Given the description of an element on the screen output the (x, y) to click on. 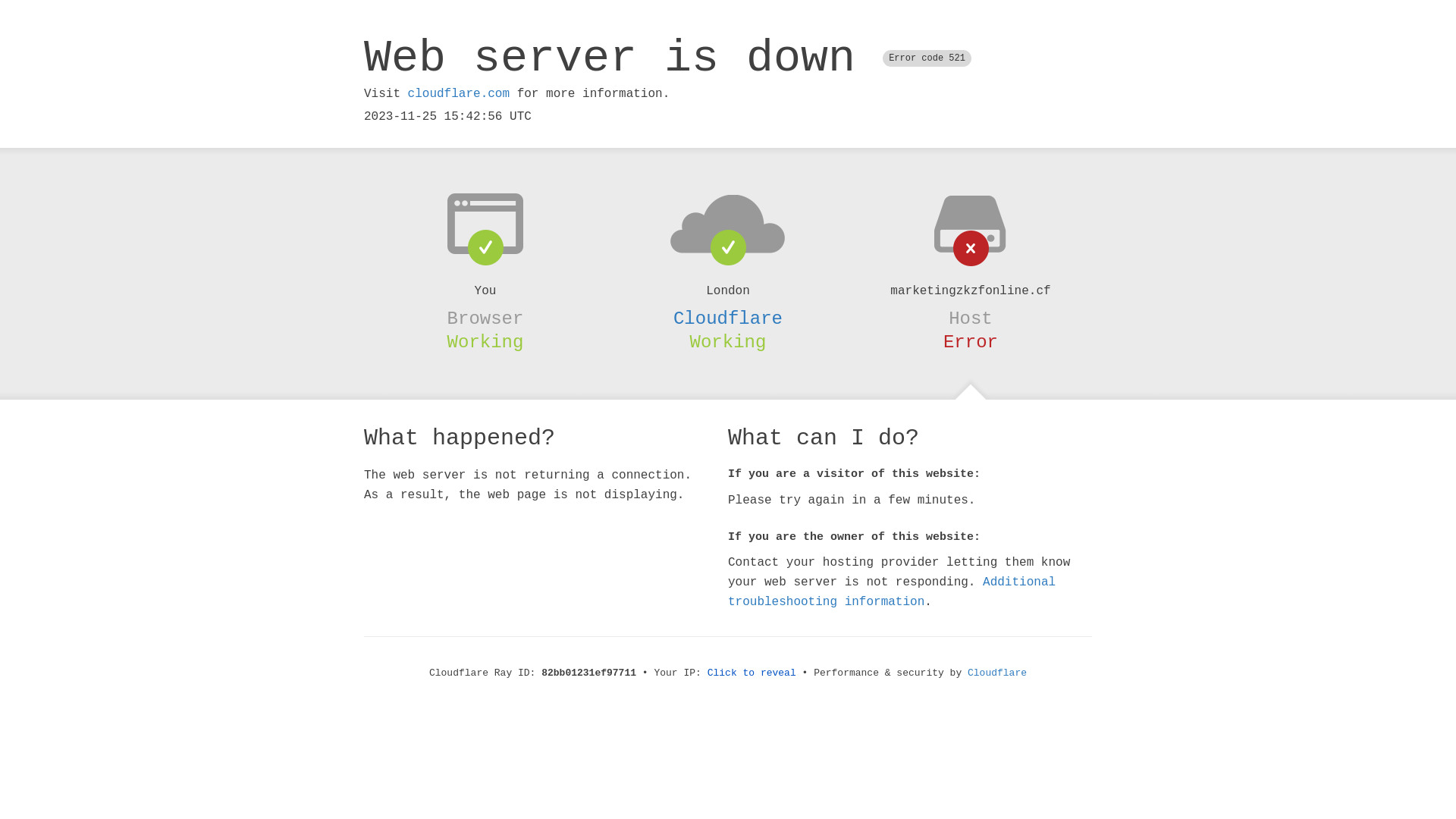
Additional troubleshooting information Element type: text (891, 591)
Cloudflare Element type: text (996, 672)
cloudflare.com Element type: text (458, 93)
Click to reveal Element type: text (751, 672)
Cloudflare Element type: text (727, 318)
